Given the description of an element on the screen output the (x, y) to click on. 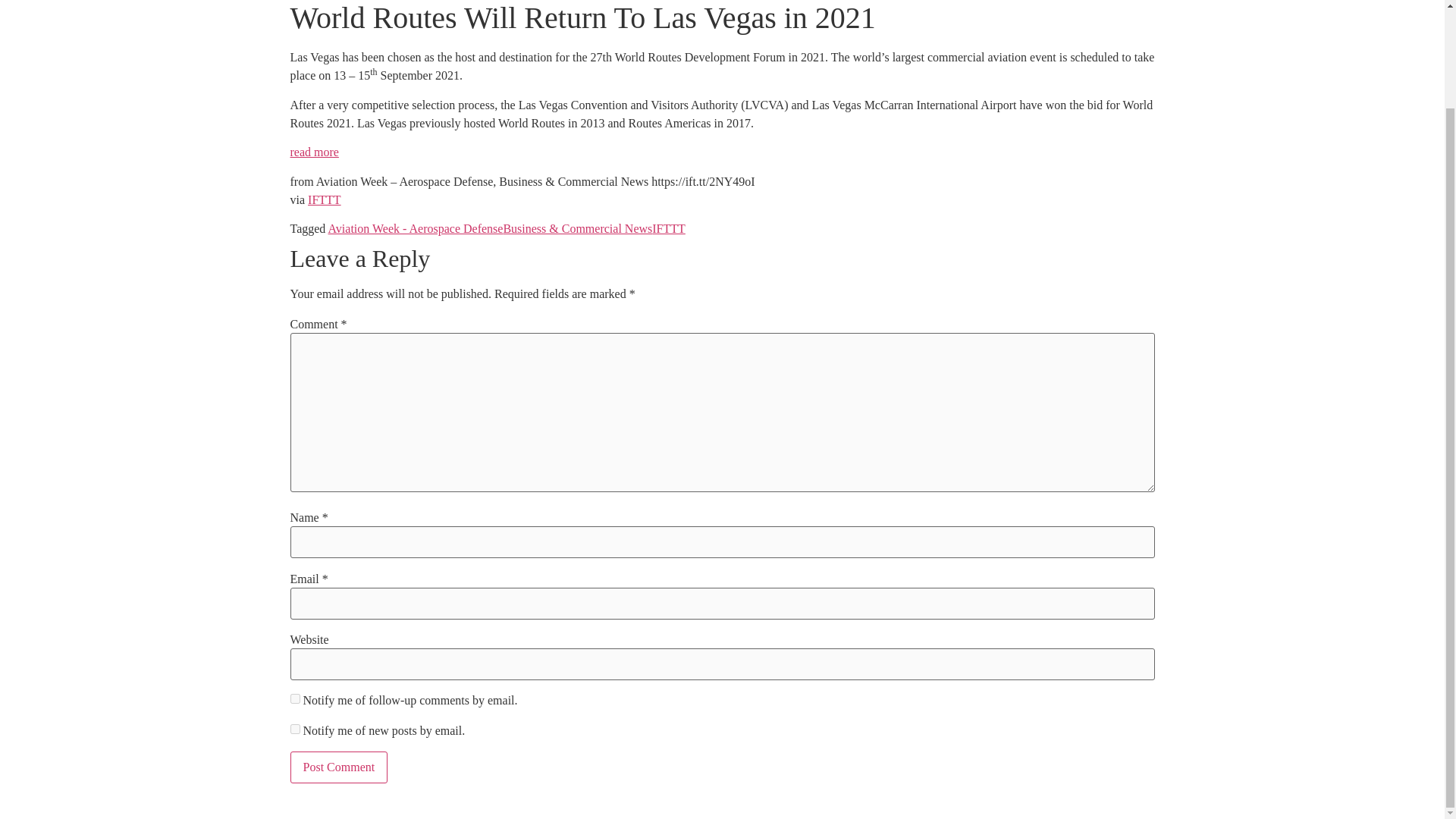
IFTTT (323, 199)
Post Comment (338, 766)
subscribe (294, 728)
Post Comment (338, 766)
IFTTT (668, 228)
read more (313, 151)
Aviation Week - Aerospace Defense (414, 228)
subscribe (294, 698)
